Given the description of an element on the screen output the (x, y) to click on. 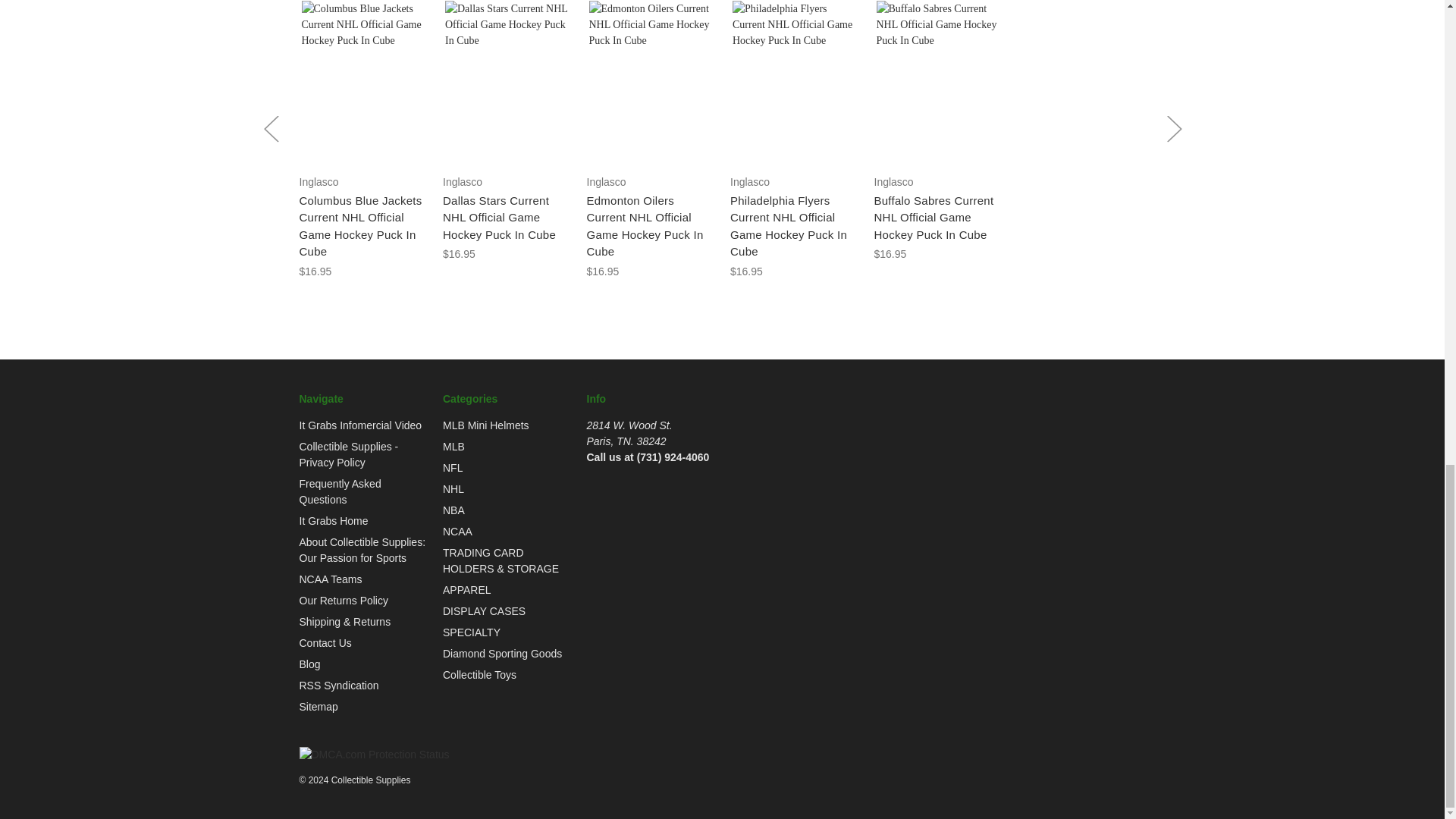
Dallas Stars Current NHL Official Game Hockey Puck In Cube (507, 81)
